Given the description of an element on the screen output the (x, y) to click on. 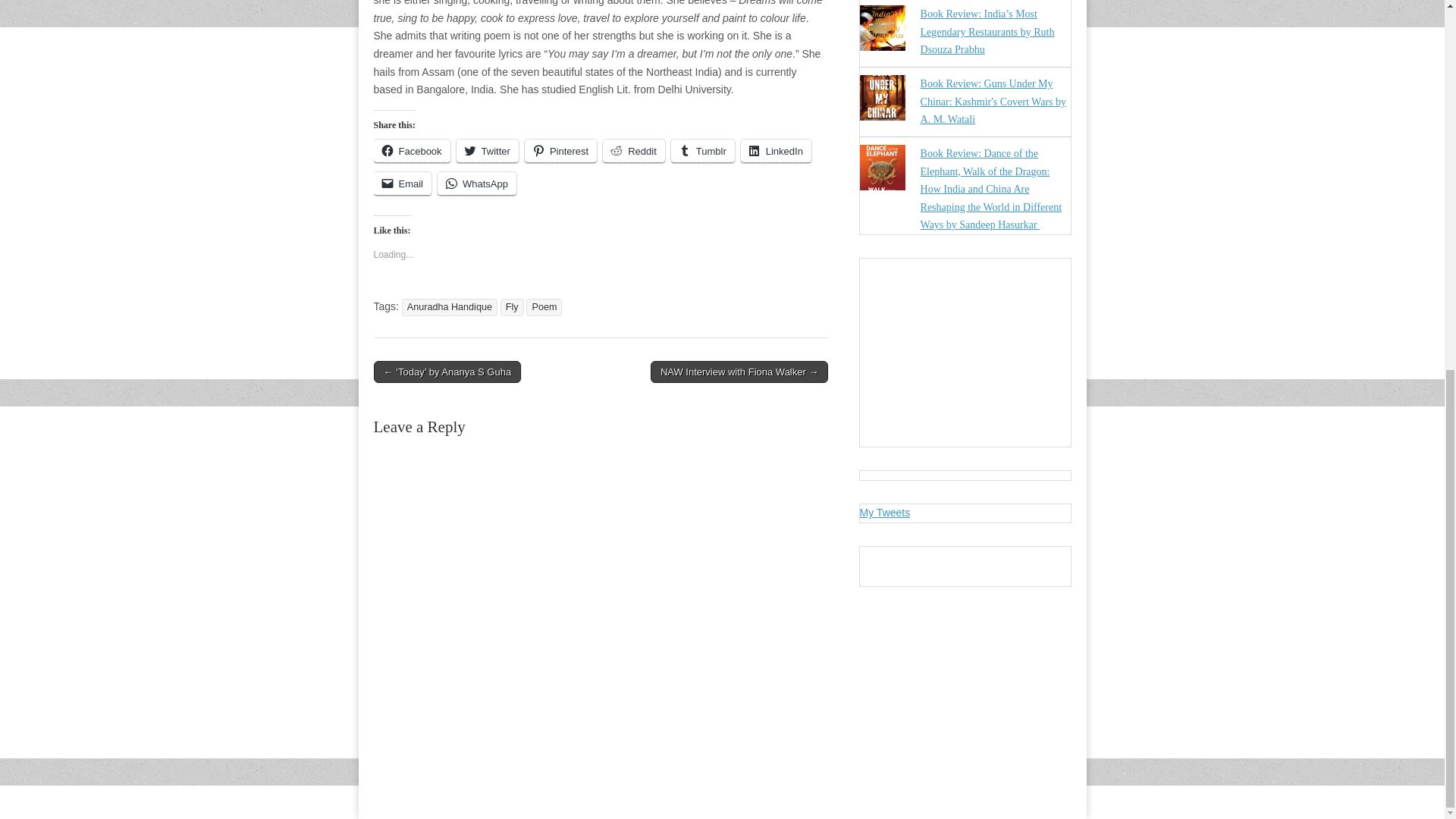
Click to share on Reddit (633, 150)
Facebook (410, 150)
Pinterest (560, 150)
Click to share on LinkedIn (775, 150)
Tumblr (703, 150)
Click to share on Tumblr (703, 150)
Click to share on Facebook (410, 150)
Click to share on Pinterest (560, 150)
Click to share on Twitter (487, 150)
Anuradha Handique (449, 307)
